Given the description of an element on the screen output the (x, y) to click on. 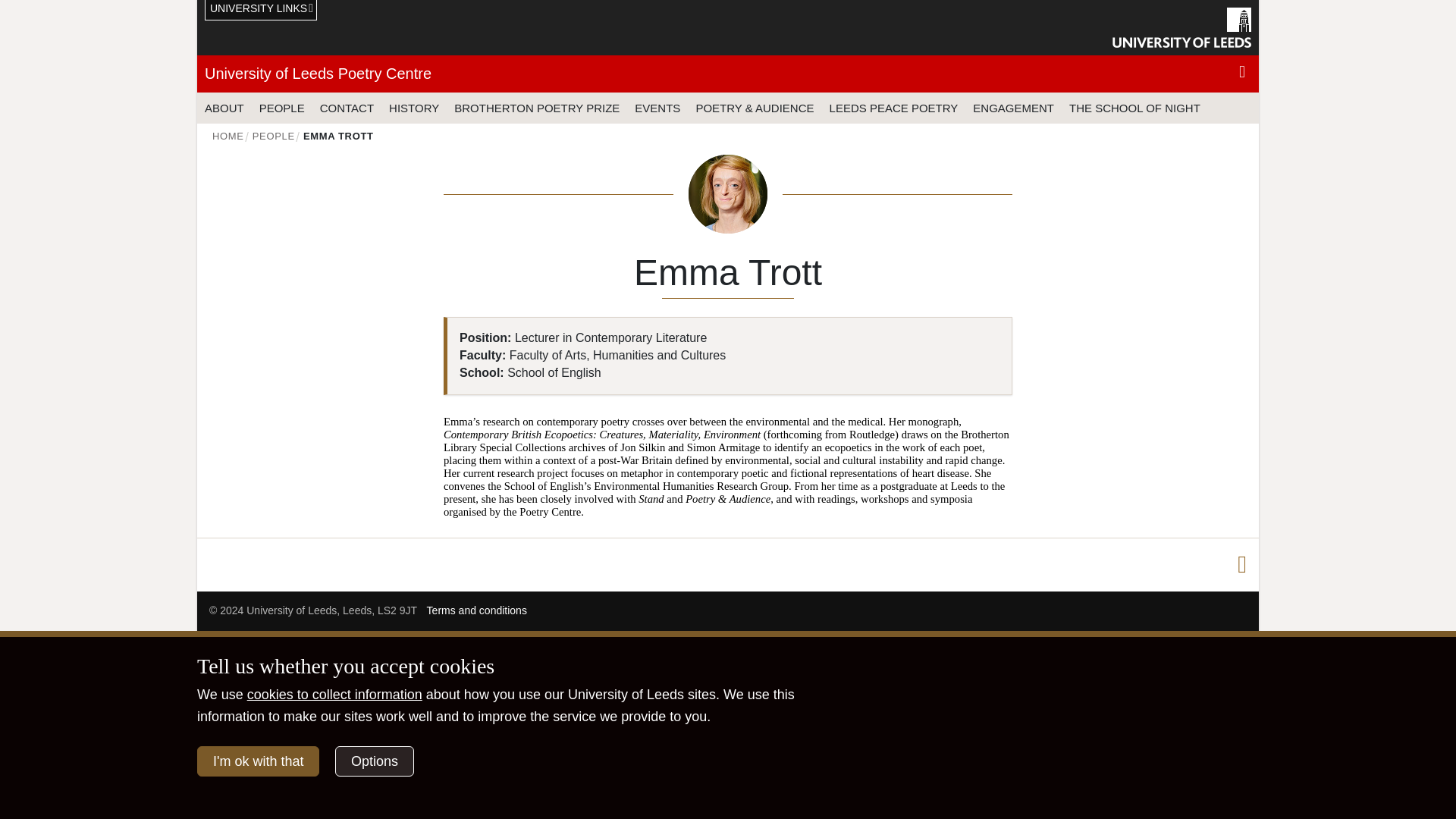
University of Leeds Poetry Centre (317, 73)
Home (228, 135)
UNIVERSITY LINKS (261, 10)
People (273, 135)
University of Leeds home page (1181, 26)
